Given the description of an element on the screen output the (x, y) to click on. 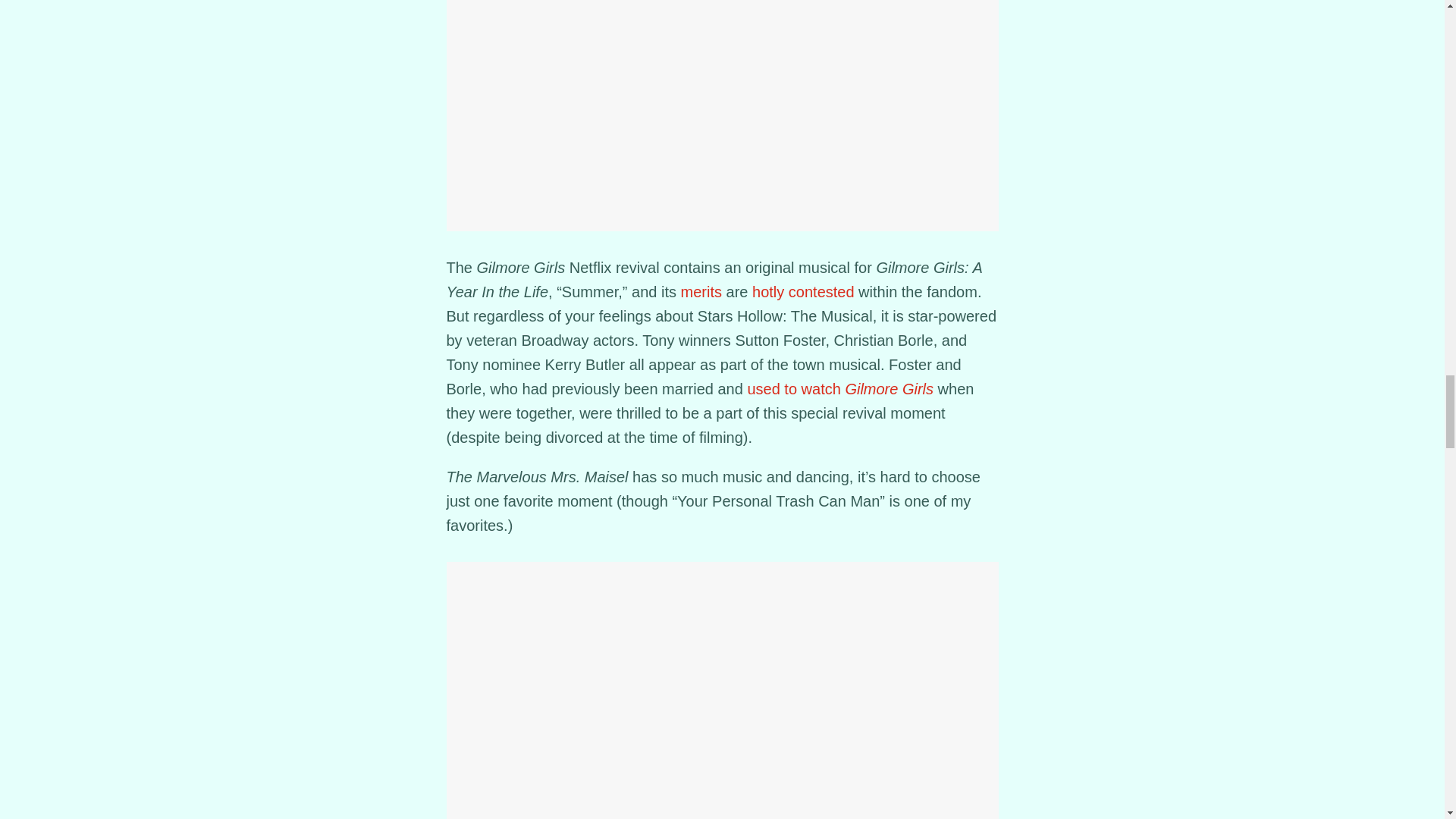
used to watch (795, 388)
hotly contested (803, 291)
Gilmore Girls (888, 388)
merits (701, 291)
